Given the description of an element on the screen output the (x, y) to click on. 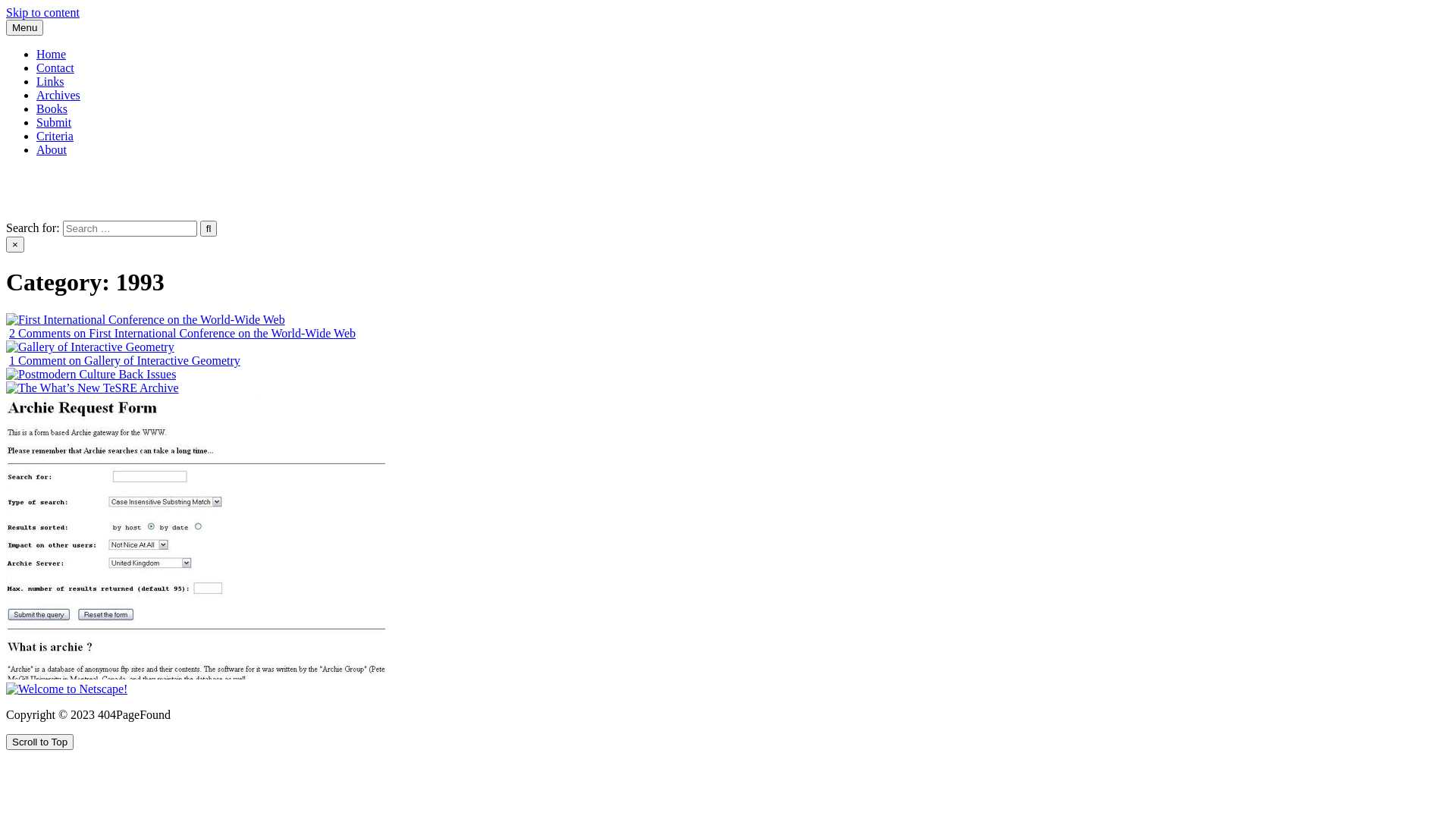
Archives Element type: text (58, 94)
Books Element type: text (51, 108)
Links Element type: text (49, 81)
404PageFound Element type: text (42, 175)
Home Element type: text (50, 53)
First International Conference on the World-Wide Web Element type: hover (145, 319)
Skip to content Element type: text (42, 12)
Menu Element type: text (24, 27)
About Element type: text (51, 149)
Criteria Element type: text (54, 135)
Contact Element type: text (55, 67)
1 Comment on Gallery of Interactive Geometry Element type: text (124, 360)
Gallery of Interactive Geometry Element type: hover (90, 347)
Postmodern Culture Back Issues Element type: hover (90, 374)
Welcome to Netscape! Element type: hover (66, 689)
Scroll to Top Element type: text (39, 741)
Archie Request Form Element type: hover (195, 537)
Submit Element type: text (53, 122)
